Given the description of an element on the screen output the (x, y) to click on. 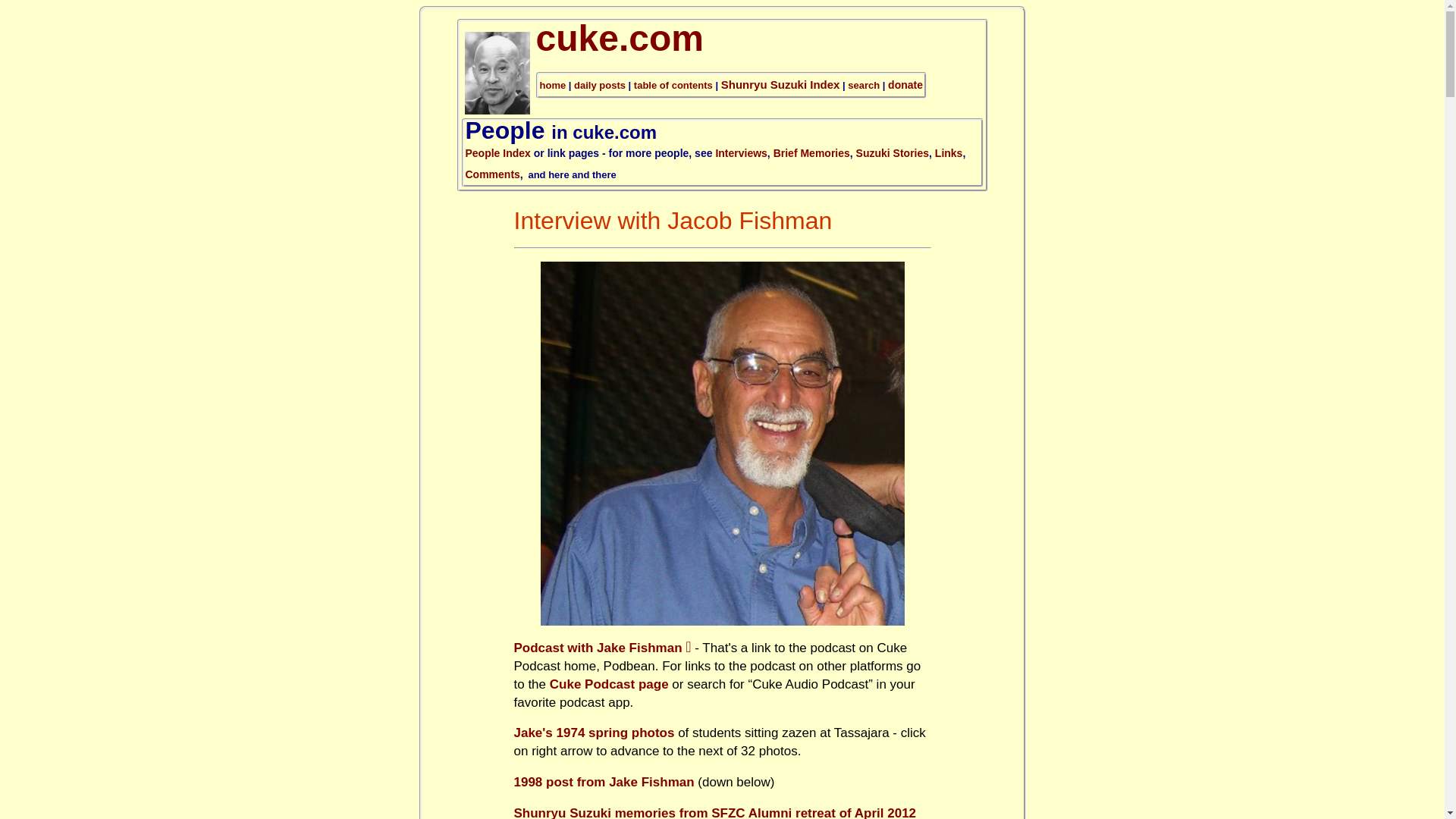
Comments (492, 174)
home (553, 84)
People Index (498, 152)
